Given the description of an element on the screen output the (x, y) to click on. 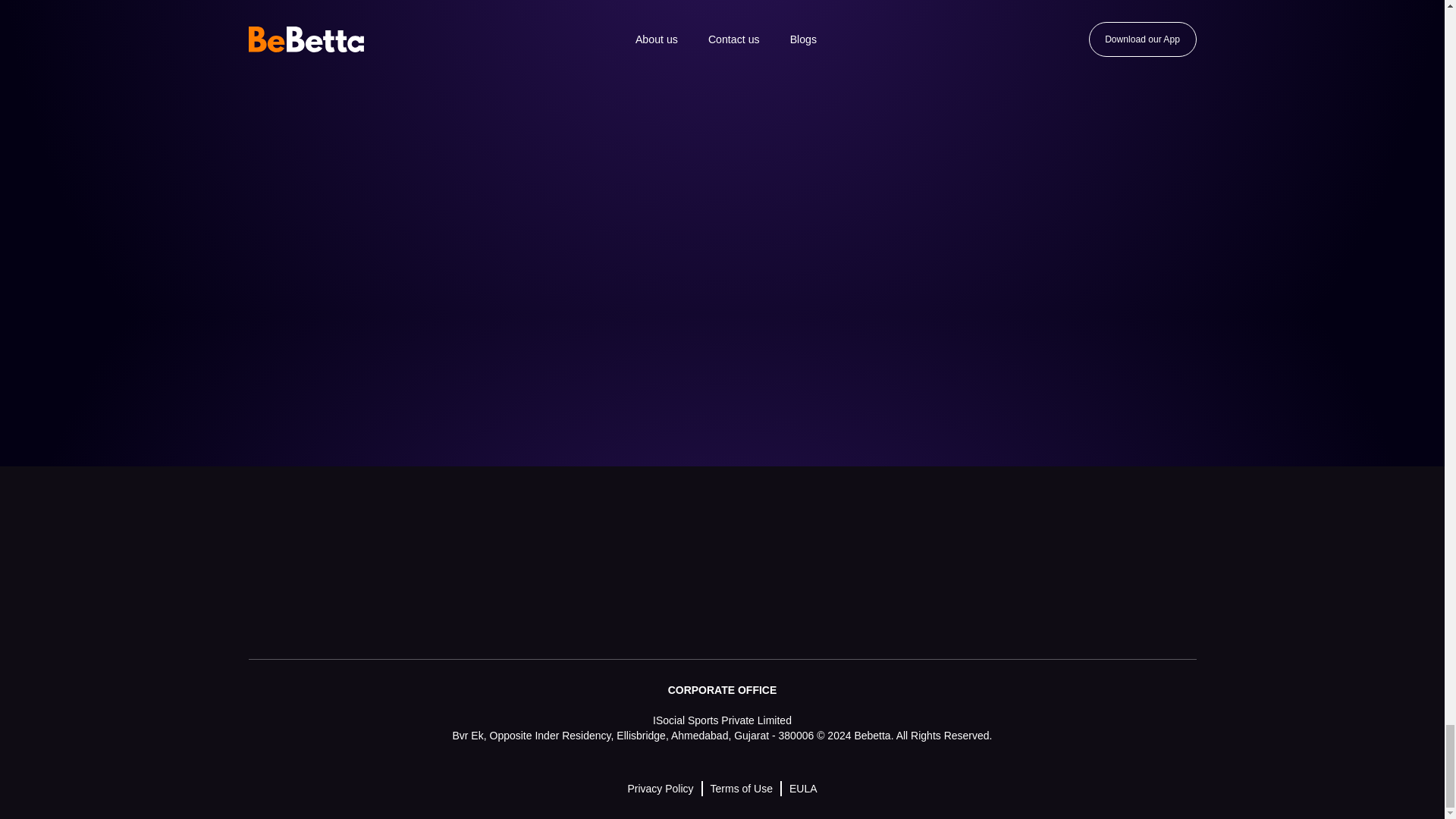
Privacy Policy (660, 788)
Terms of Use (741, 788)
EULA (802, 788)
